Given the description of an element on the screen output the (x, y) to click on. 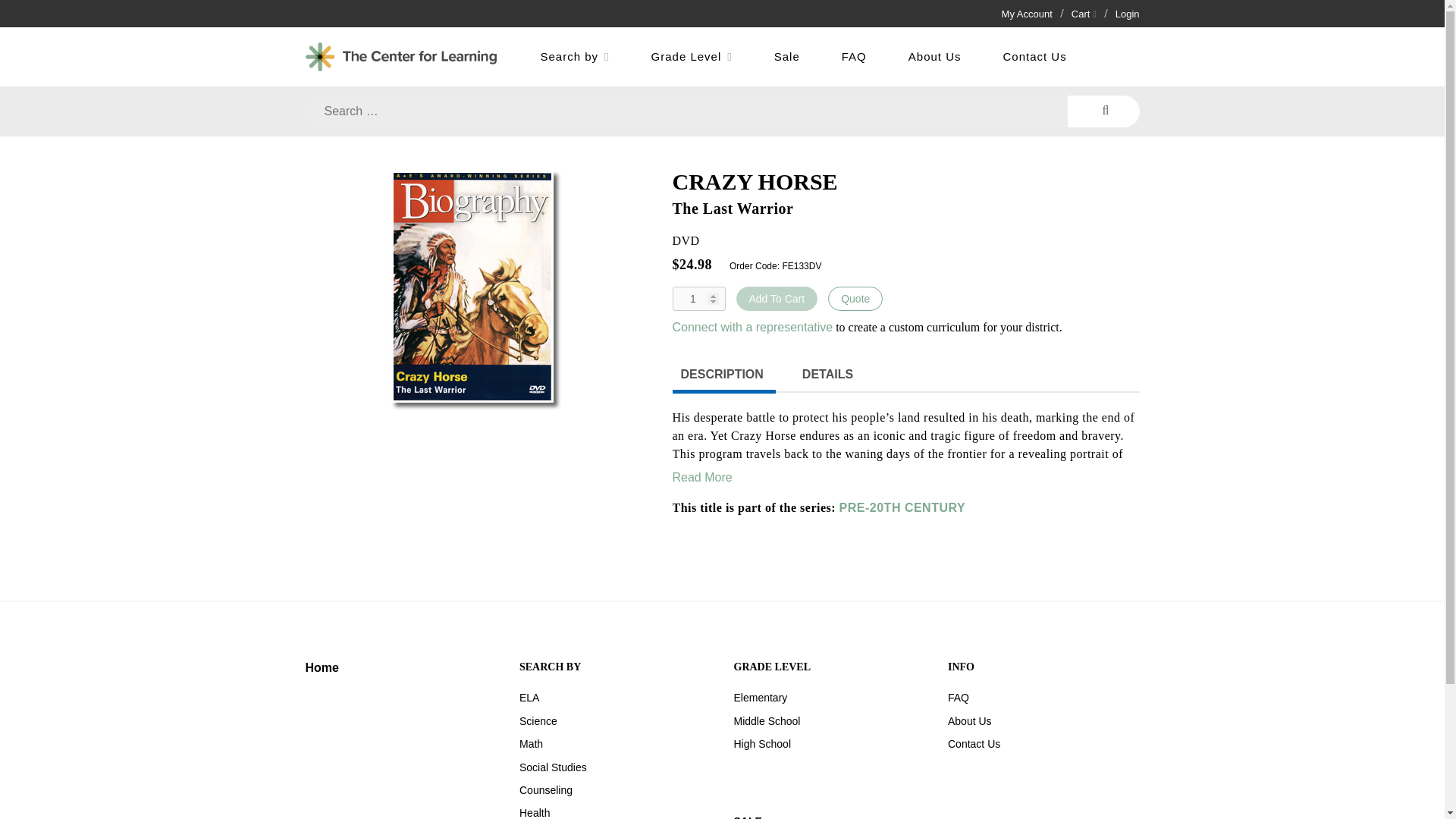
Search (1103, 111)
Qty (698, 298)
1 (698, 298)
Login (1127, 13)
Search by (574, 57)
Search (1103, 111)
My Account (1026, 13)
Cart (1083, 13)
